Given the description of an element on the screen output the (x, y) to click on. 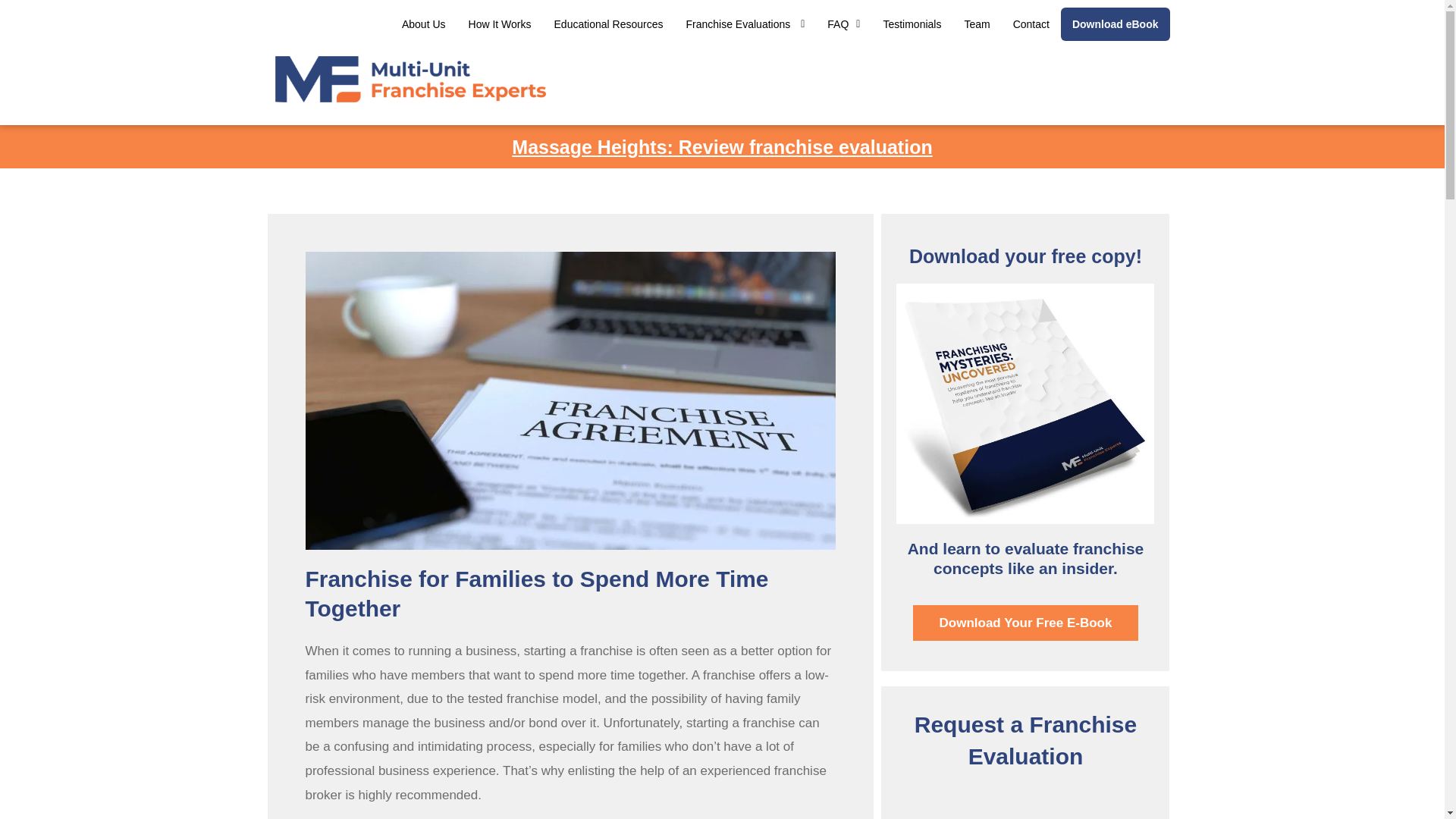
Franchise Evaluations  (745, 23)
Request Evaluation (1024, 803)
Team (976, 23)
How It Works (500, 23)
Testimonials (911, 23)
FAQ (842, 23)
Contact (1031, 23)
About Us (423, 23)
Download eBook (1115, 23)
Educational Resources (609, 23)
